Given the description of an element on the screen output the (x, y) to click on. 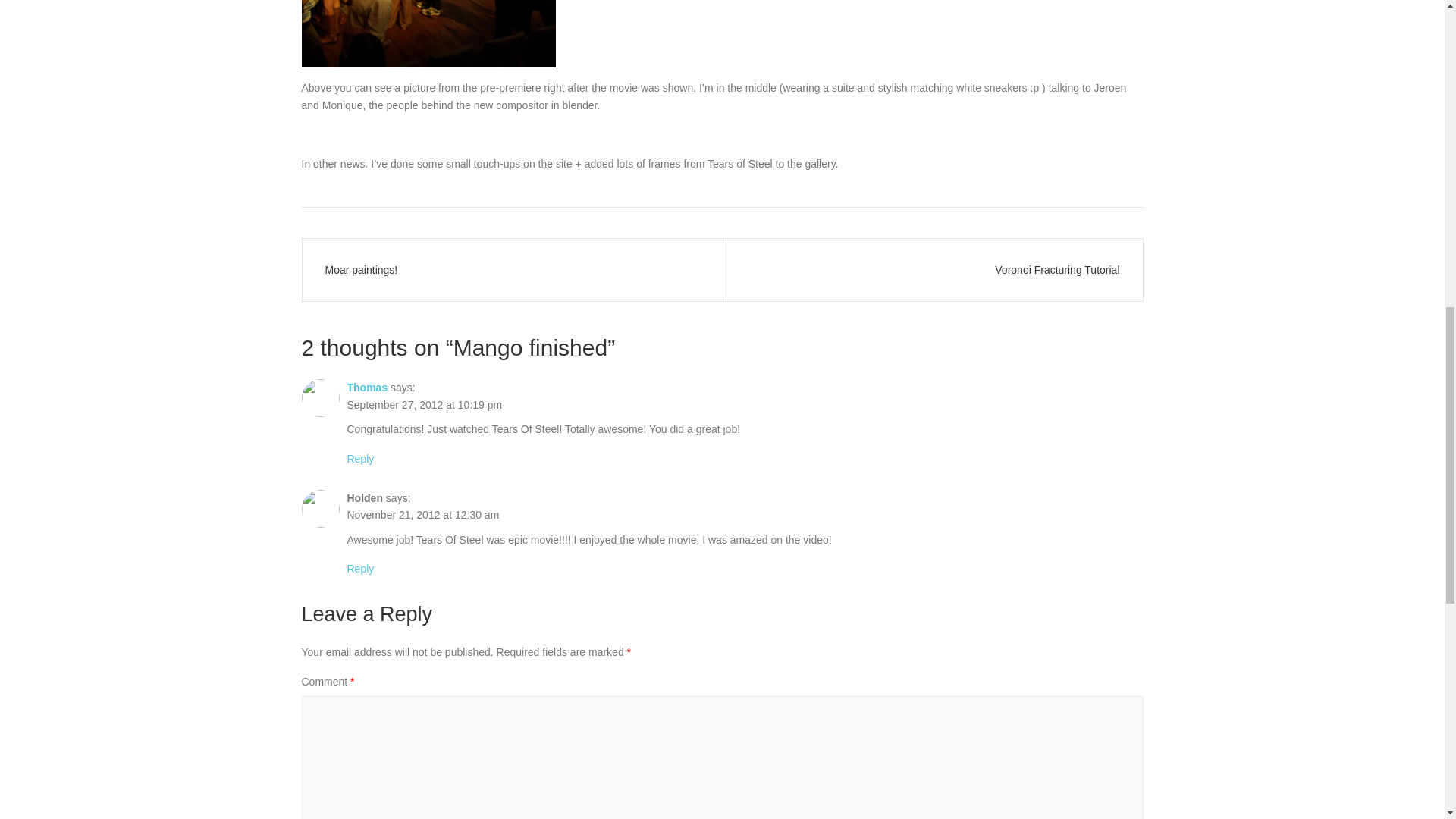
Moar paintings! (511, 270)
Thomas (367, 387)
September 27, 2012 at 10:19 pm (424, 404)
November 21, 2012 at 12:30 am (423, 514)
Voronoi Fracturing Tutorial (931, 270)
Reply (360, 458)
Mango Pre-Premiere (428, 33)
Reply (360, 568)
